Given the description of an element on the screen output the (x, y) to click on. 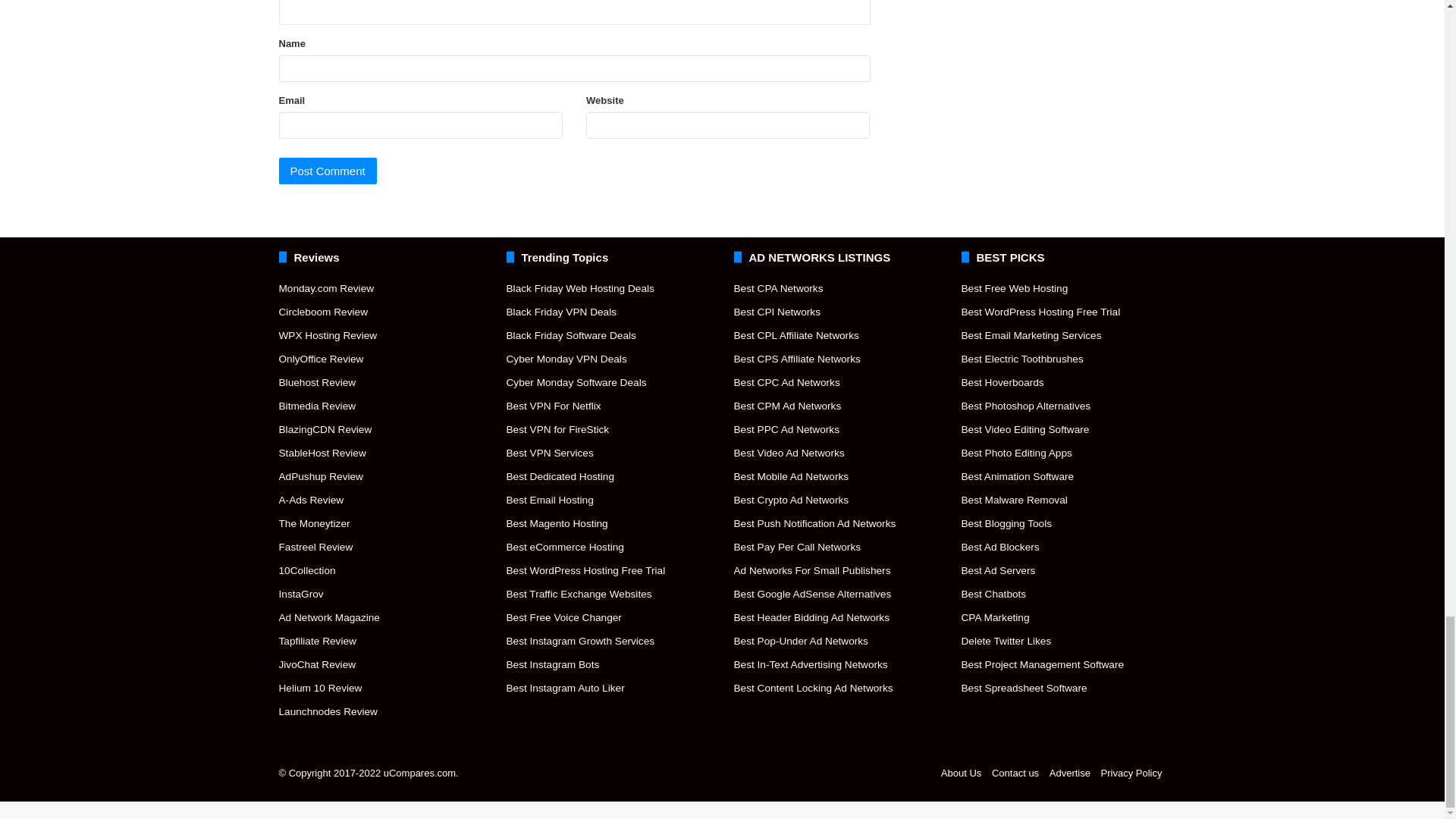
Post Comment (328, 171)
